Given the description of an element on the screen output the (x, y) to click on. 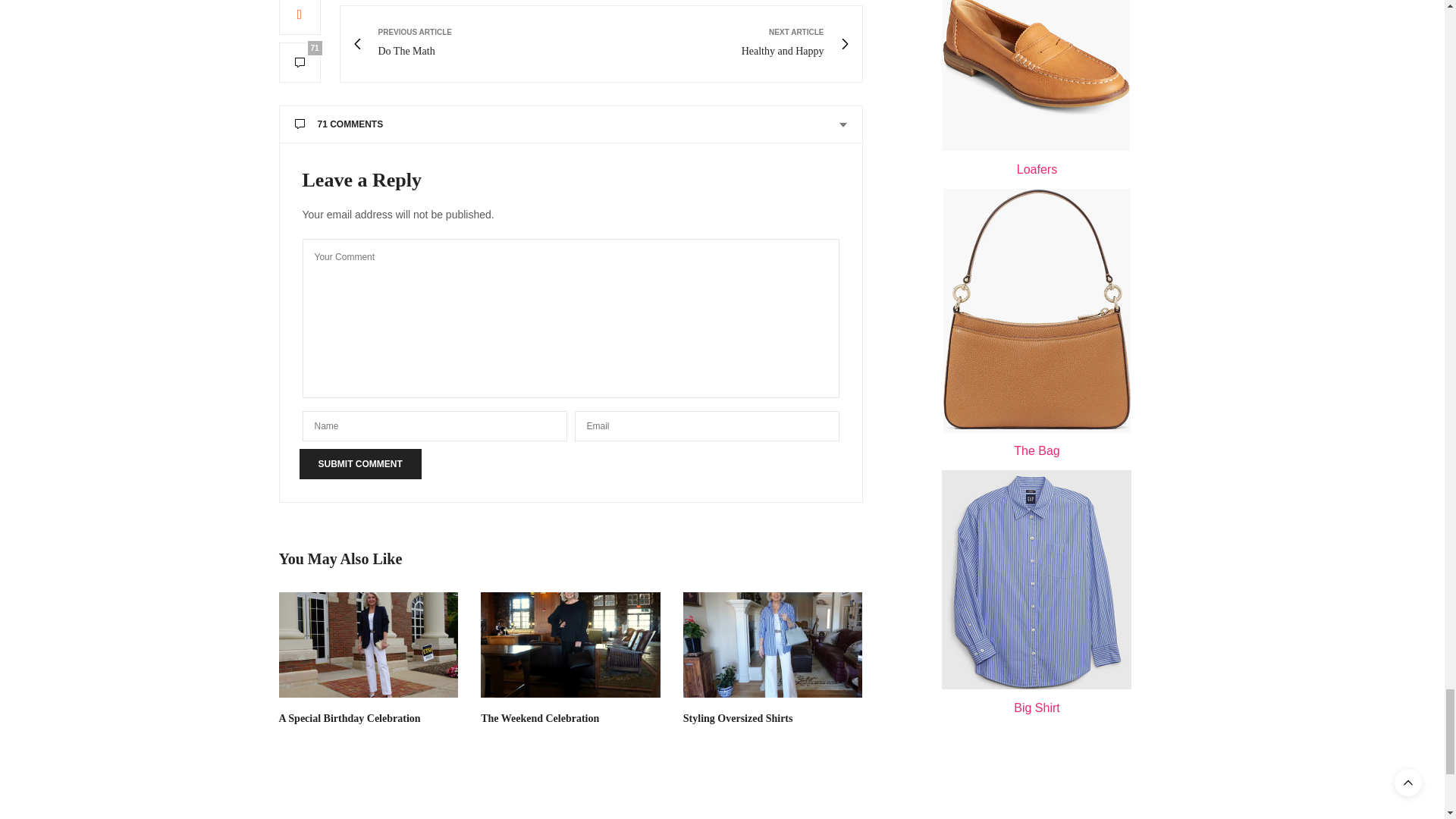
A Special Birthday Celebration (349, 717)
The Weekend Celebration (539, 717)
Styling Oversized Shirts (737, 717)
A Special Birthday Celebration (368, 644)
Styling Oversized Shirts (772, 644)
The Weekend Celebration (570, 644)
Submit Comment (359, 463)
